Given the description of an element on the screen output the (x, y) to click on. 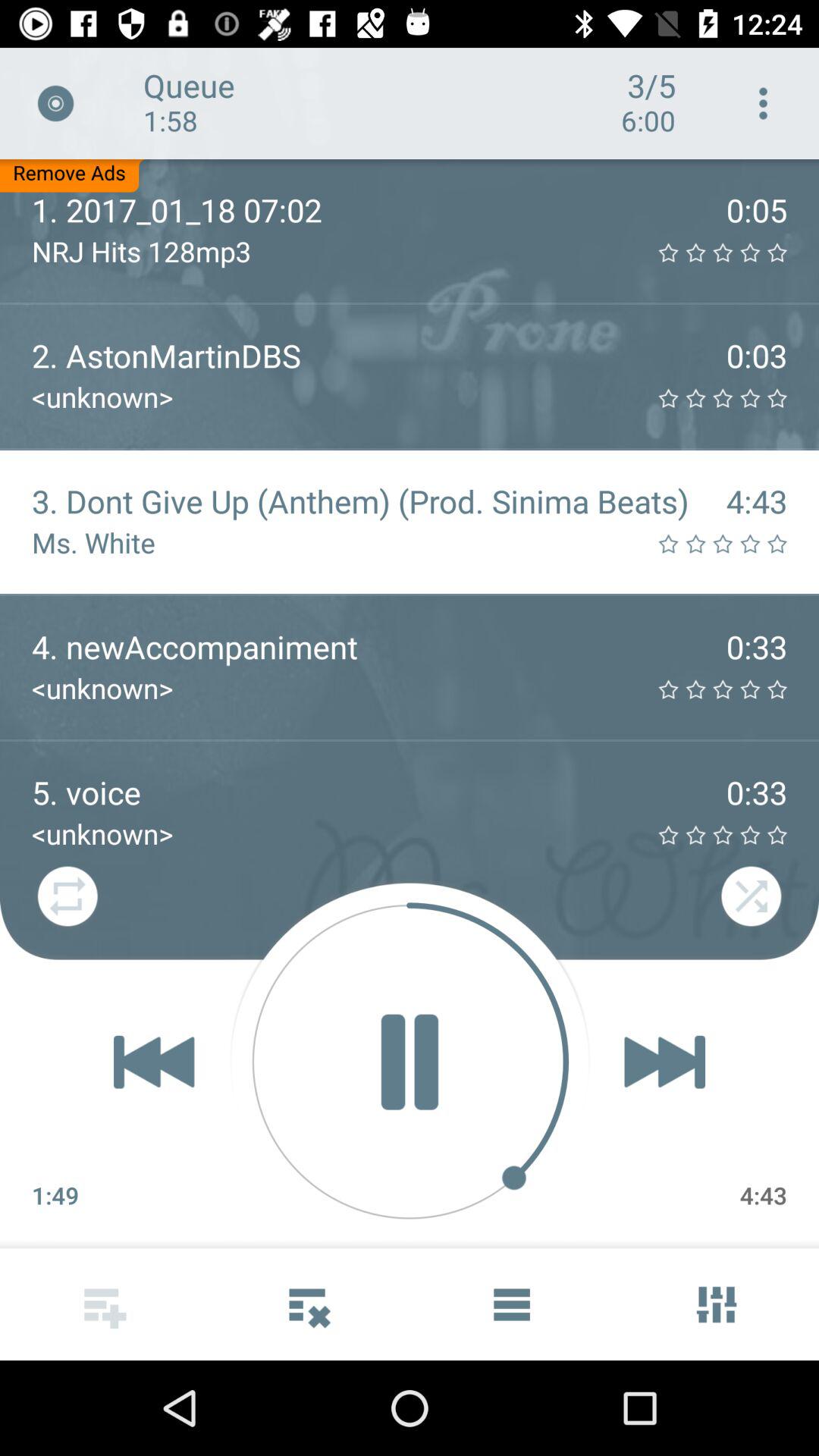
choose item to the left of the queue item (55, 103)
